Given the description of an element on the screen output the (x, y) to click on. 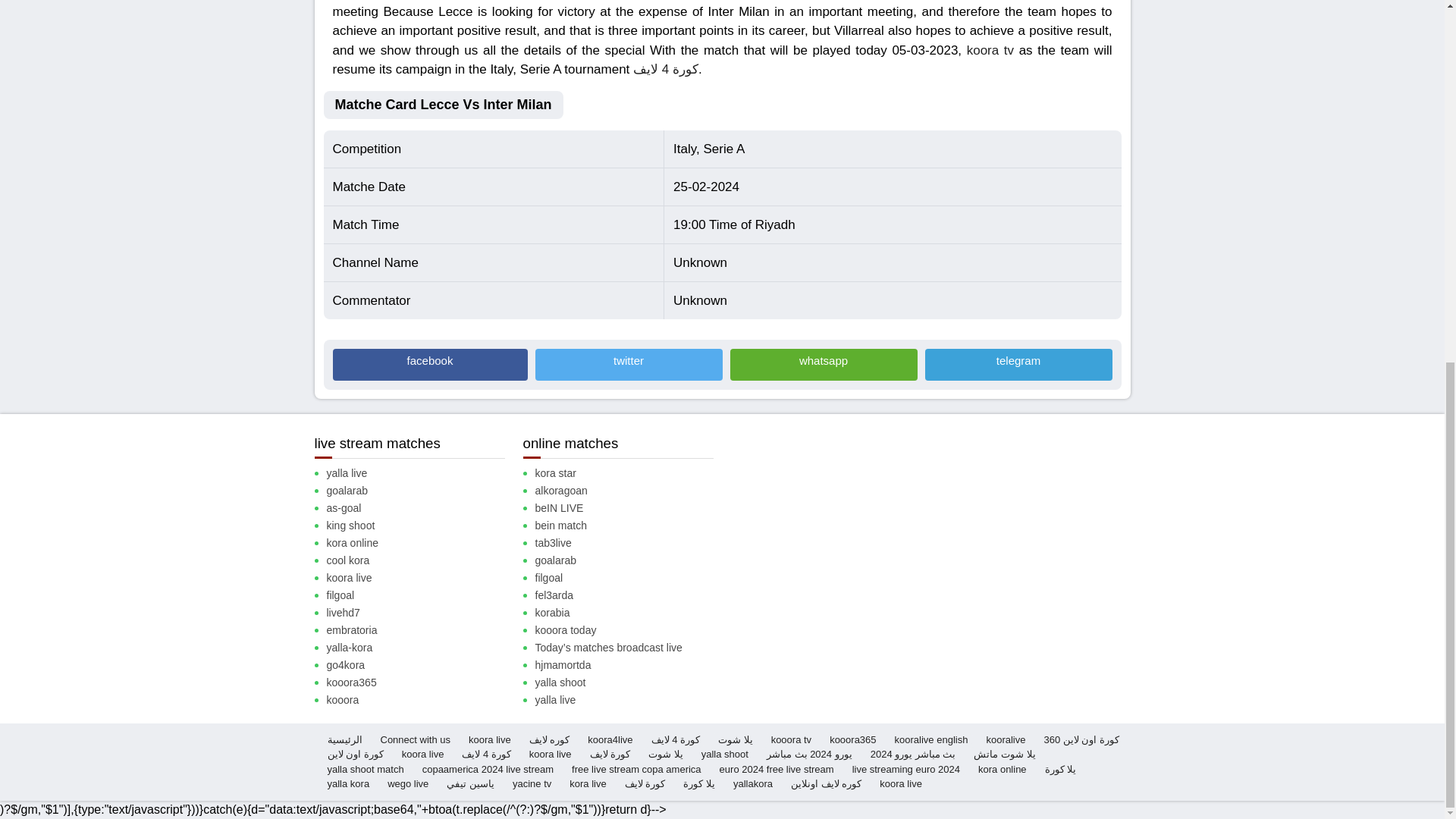
Share to facebook (429, 364)
koora live (421, 578)
kooora365 (421, 682)
twitter (628, 364)
livehd7 (421, 612)
goalarab (421, 490)
filgoal (421, 595)
king shoot (421, 525)
as-goal (421, 508)
Share to telegram (1018, 364)
facebook (429, 364)
yalla live (421, 473)
telegram (1018, 364)
Share to twitter (628, 364)
yalla-kora (421, 647)
